Given the description of an element on the screen output the (x, y) to click on. 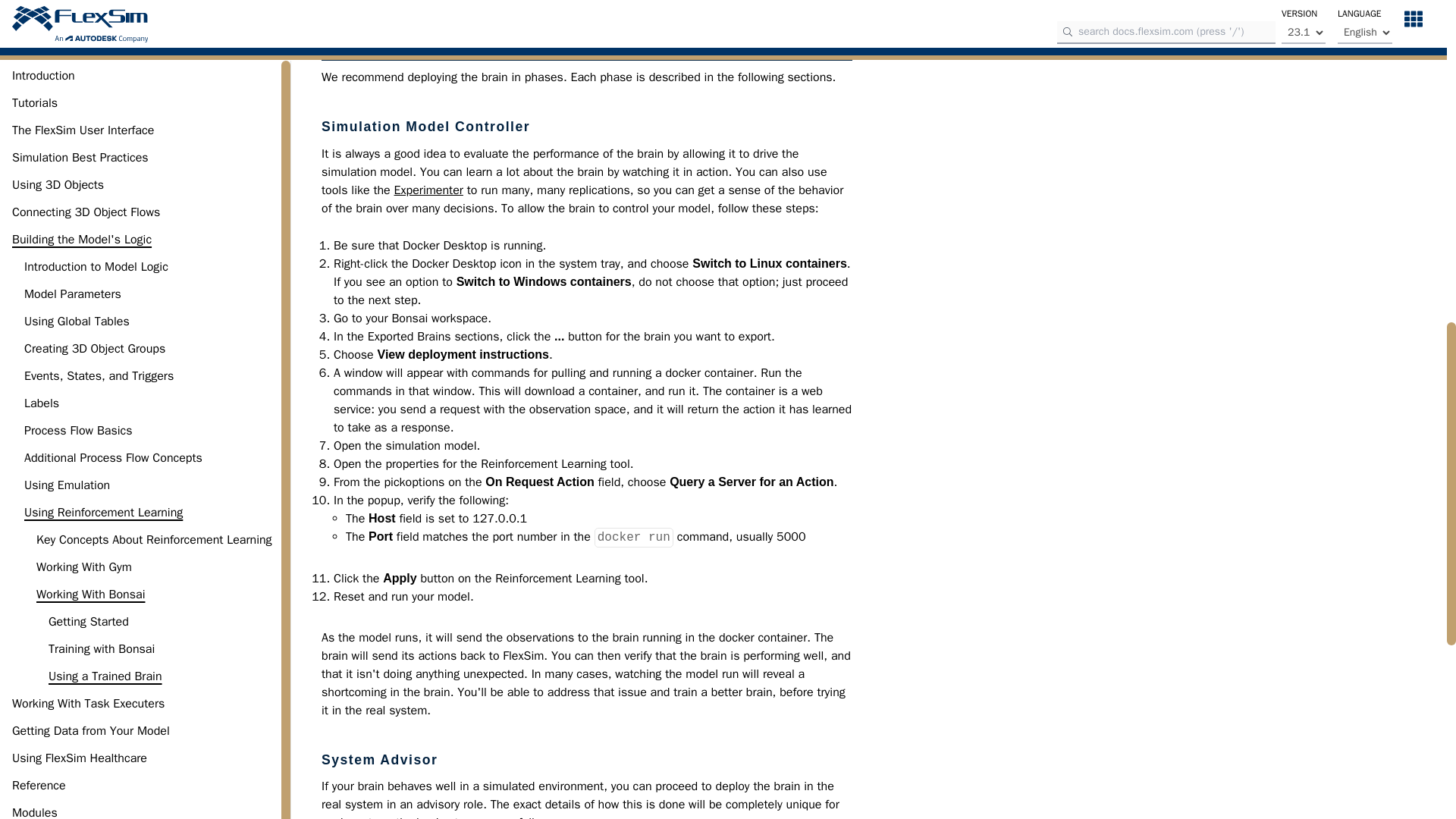
Modules (34, 1)
